Given the description of an element on the screen output the (x, y) to click on. 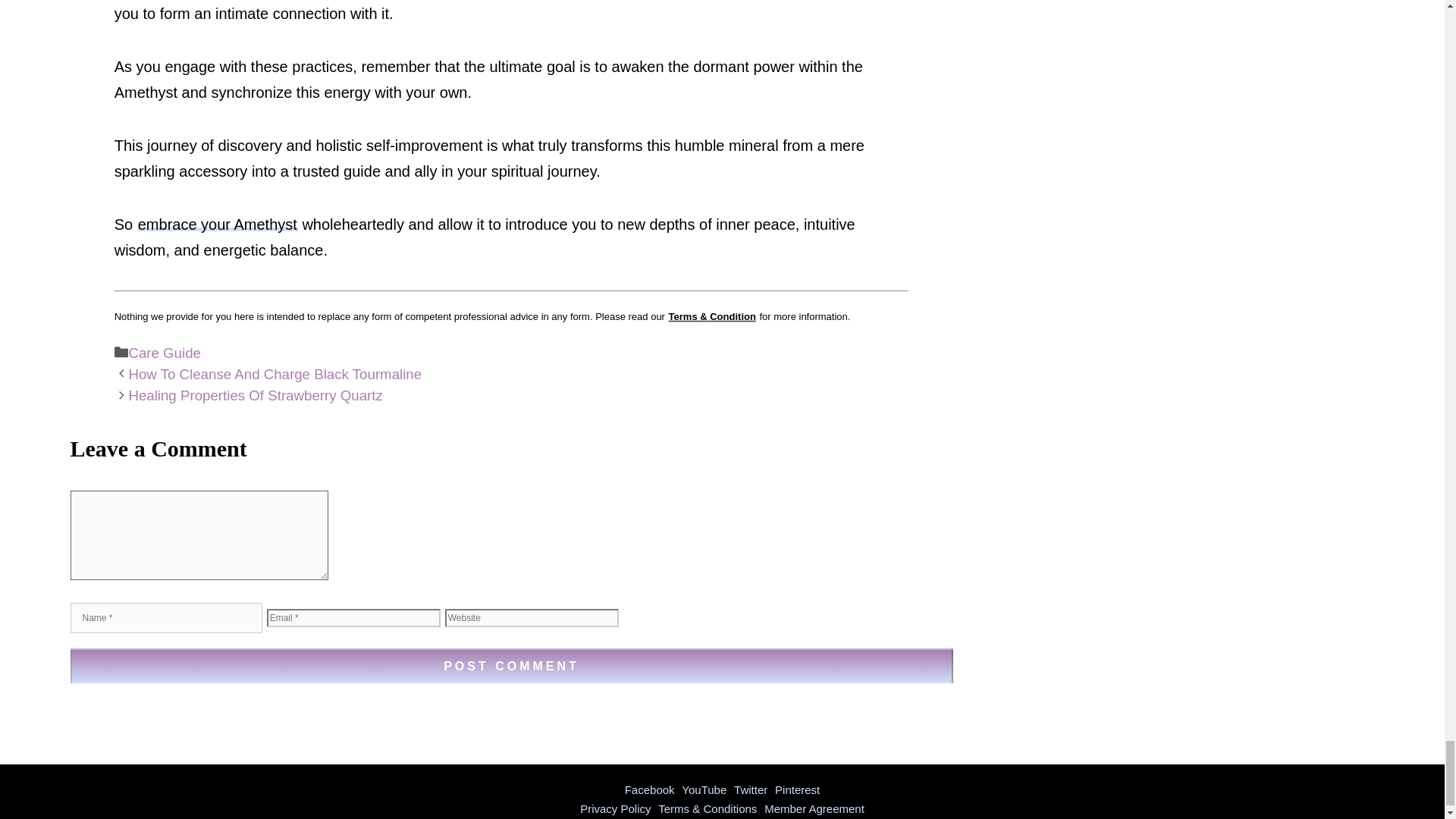
Post Comment (510, 665)
